Given the description of an element on the screen output the (x, y) to click on. 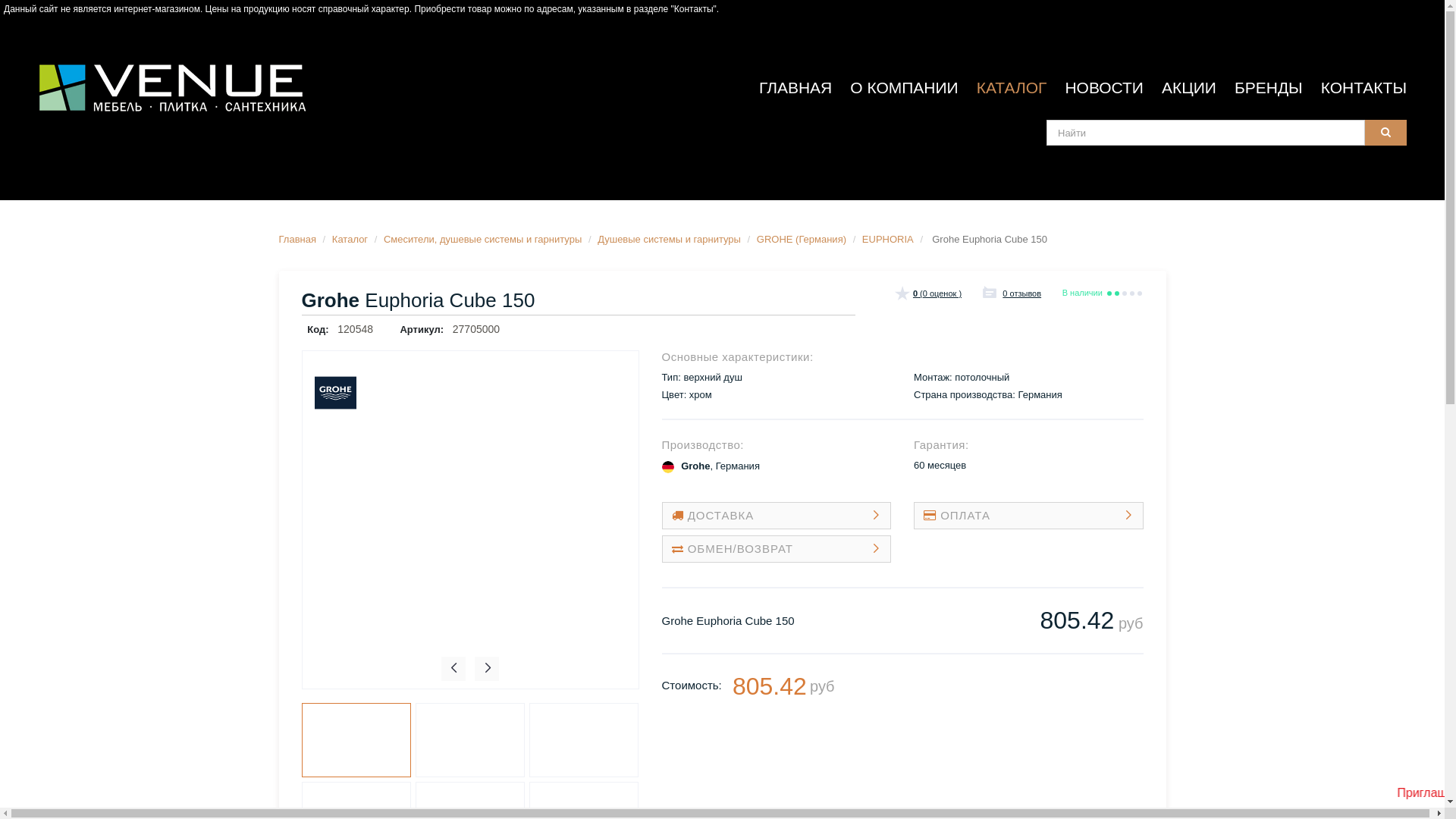
Euphoria Cube 150 Element type: hover (469, 739)
EUPHORIA Element type: text (887, 238)
Euphoria Cube 150 Element type: hover (583, 739)
Euphoria Cube 150 Element type: hover (356, 739)
